Given the description of an element on the screen output the (x, y) to click on. 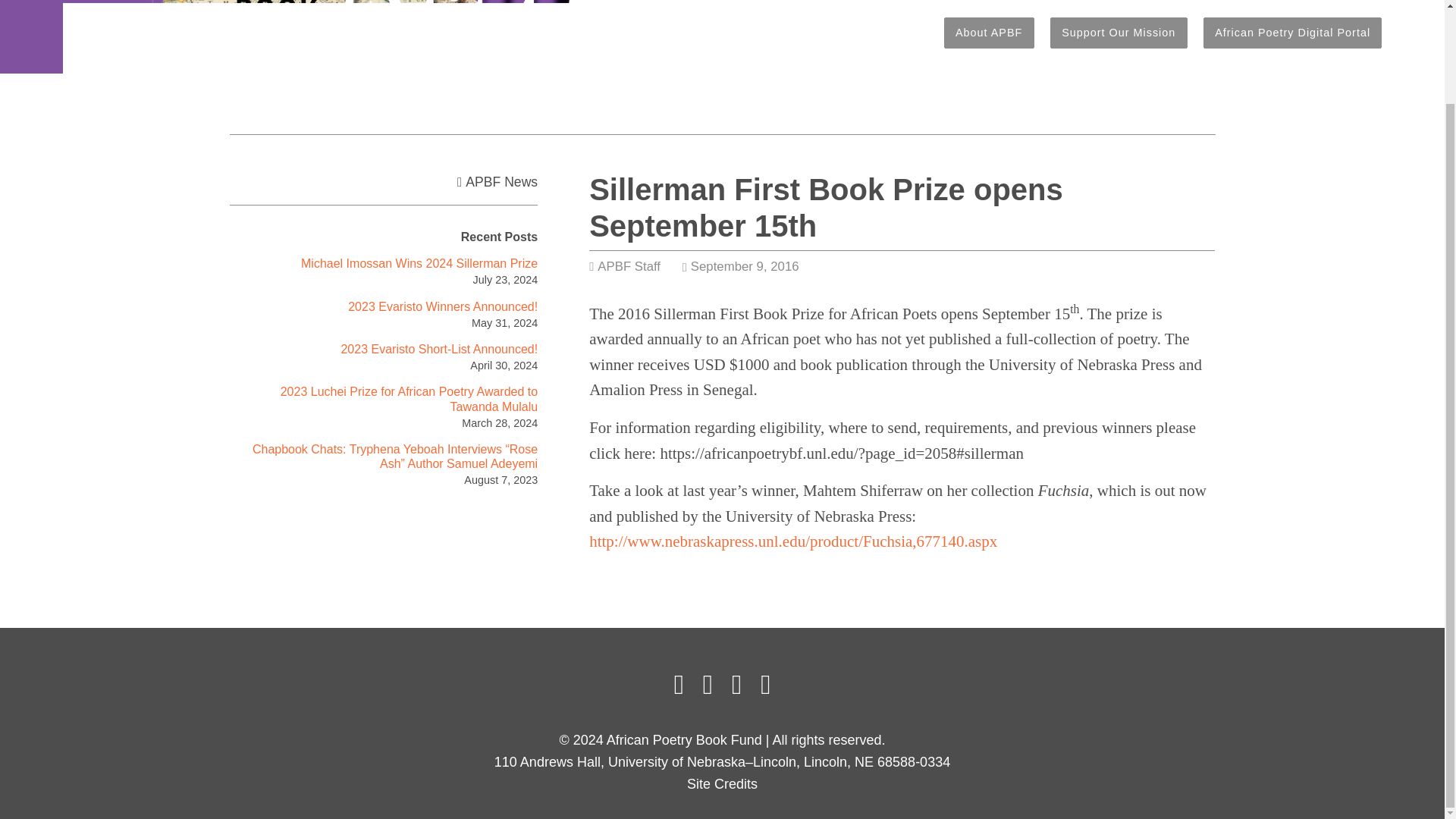
About APBF (988, 32)
African Poetry Digital Portal (1292, 32)
Support Our Mission (1118, 32)
Michael Imossan Wins 2024 Sillerman Prize (419, 263)
African Poetry Book Fund (328, 36)
APBF Staff (628, 266)
APBF News (501, 181)
2023 Evaristo Winners Announced! (442, 306)
Site Credits (722, 783)
